Given the description of an element on the screen output the (x, y) to click on. 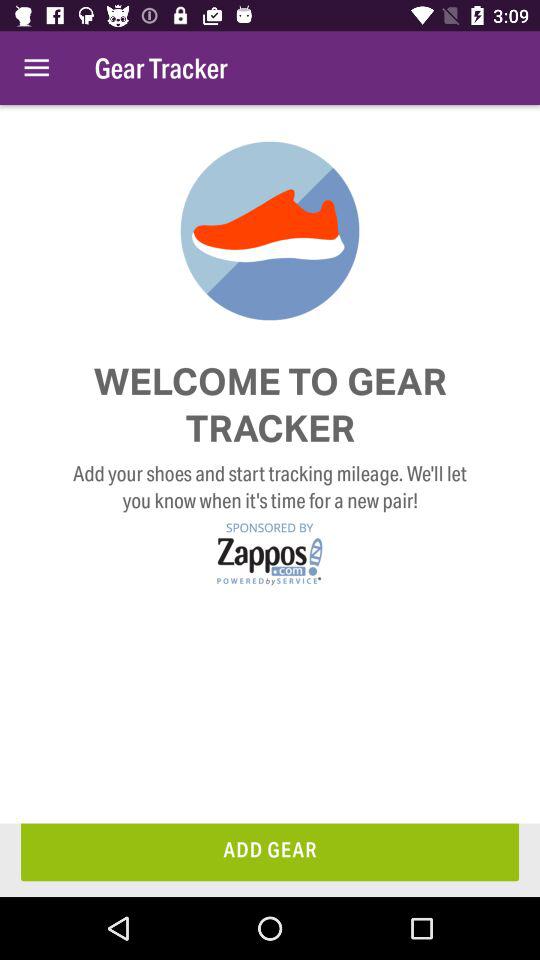
tap the icon to the left of gear tracker (36, 68)
